Given the description of an element on the screen output the (x, y) to click on. 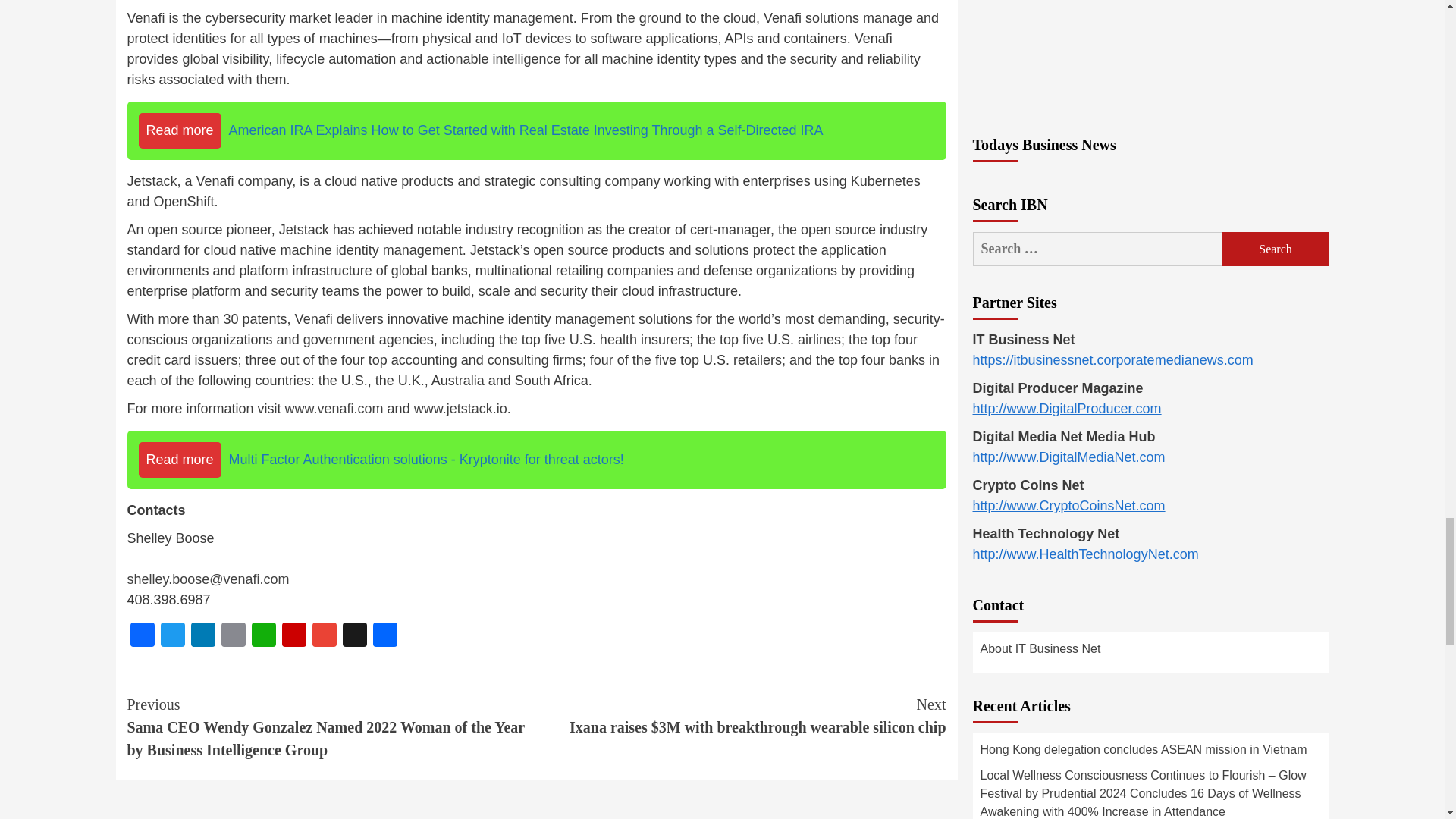
Email (233, 636)
LinkedIn (202, 636)
Facebook (142, 636)
www.venafi.com (334, 408)
Facebook (142, 636)
Twitter (172, 636)
www.jetstack.io (459, 408)
WhatsApp (263, 636)
